Given the description of an element on the screen output the (x, y) to click on. 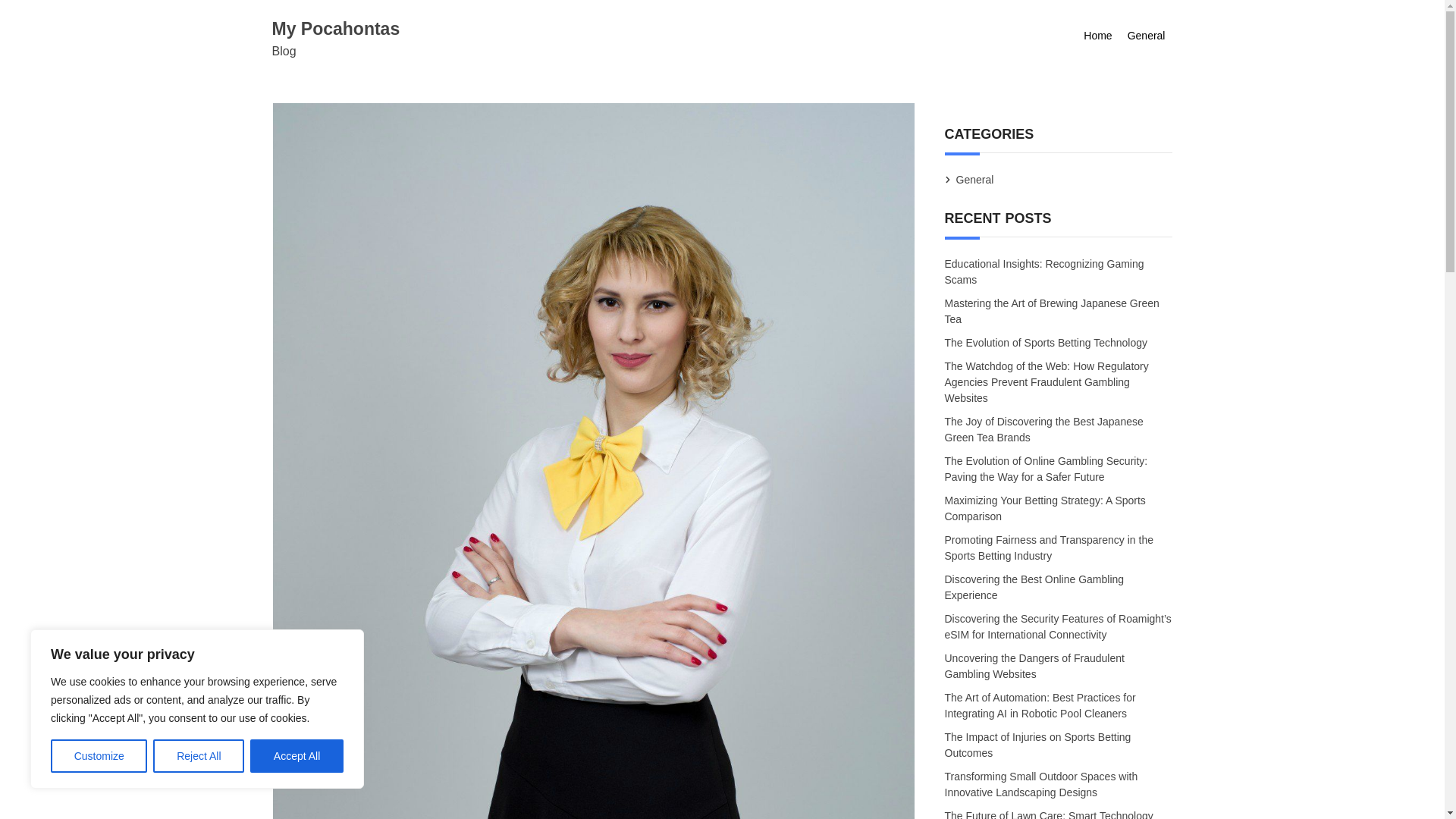
Accept All (296, 756)
The Evolution of Sports Betting Technology (1046, 343)
Customize (98, 756)
General (1146, 35)
Mastering the Art of Brewing Japanese Green Tea (1051, 311)
My Pocahontas (334, 28)
Home (1097, 35)
Discovering the Best Online Gambling Experience (1034, 587)
Reject All (198, 756)
Maximizing Your Betting Strategy: A Sports Comparison (1044, 508)
The Joy of Discovering the Best Japanese Green Tea Brands (1043, 430)
Educational Insights: Recognizing Gaming Scams (1044, 272)
General (974, 179)
